Given the description of an element on the screen output the (x, y) to click on. 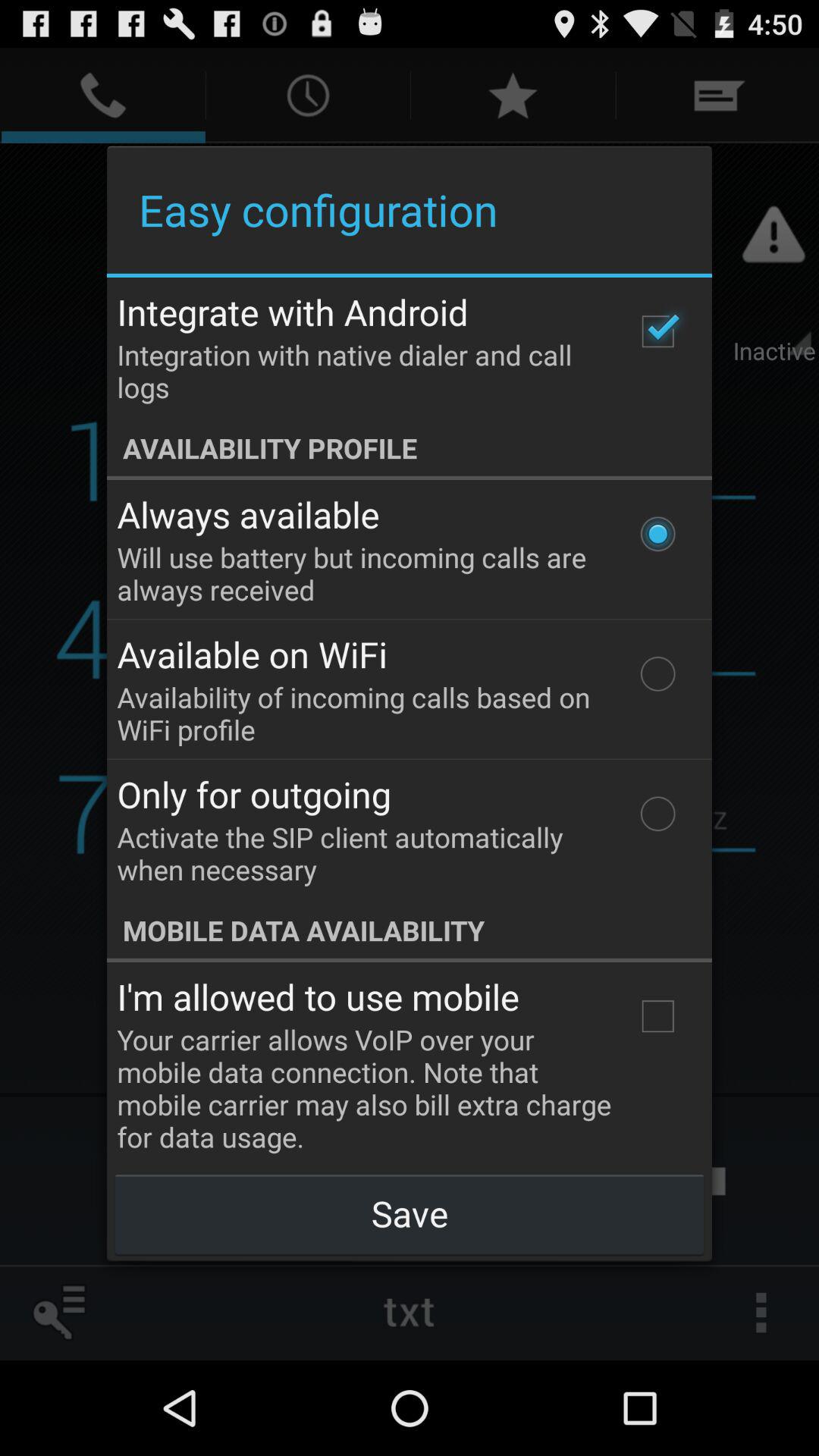
choose the icon to the right of the i m allowed item (657, 1016)
